Given the description of an element on the screen output the (x, y) to click on. 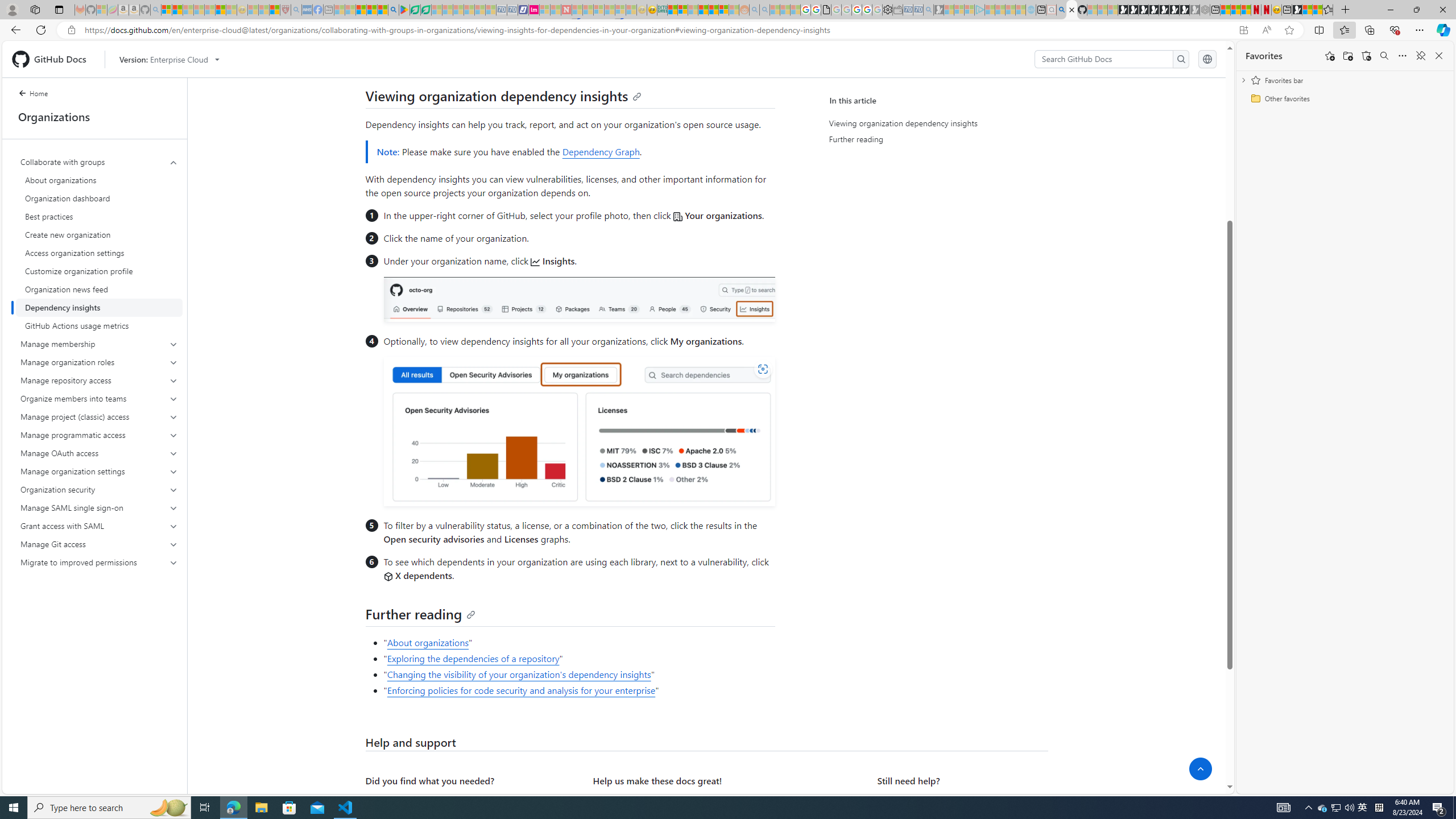
Manage membership (99, 343)
Manage programmatic access (99, 434)
App available. Install GitHub Docs (1243, 29)
Bluey: Let's Play! - Apps on Google Play (404, 9)
Wildlife - MSN (1307, 9)
Best practices (99, 216)
